Given the description of an element on the screen output the (x, y) to click on. 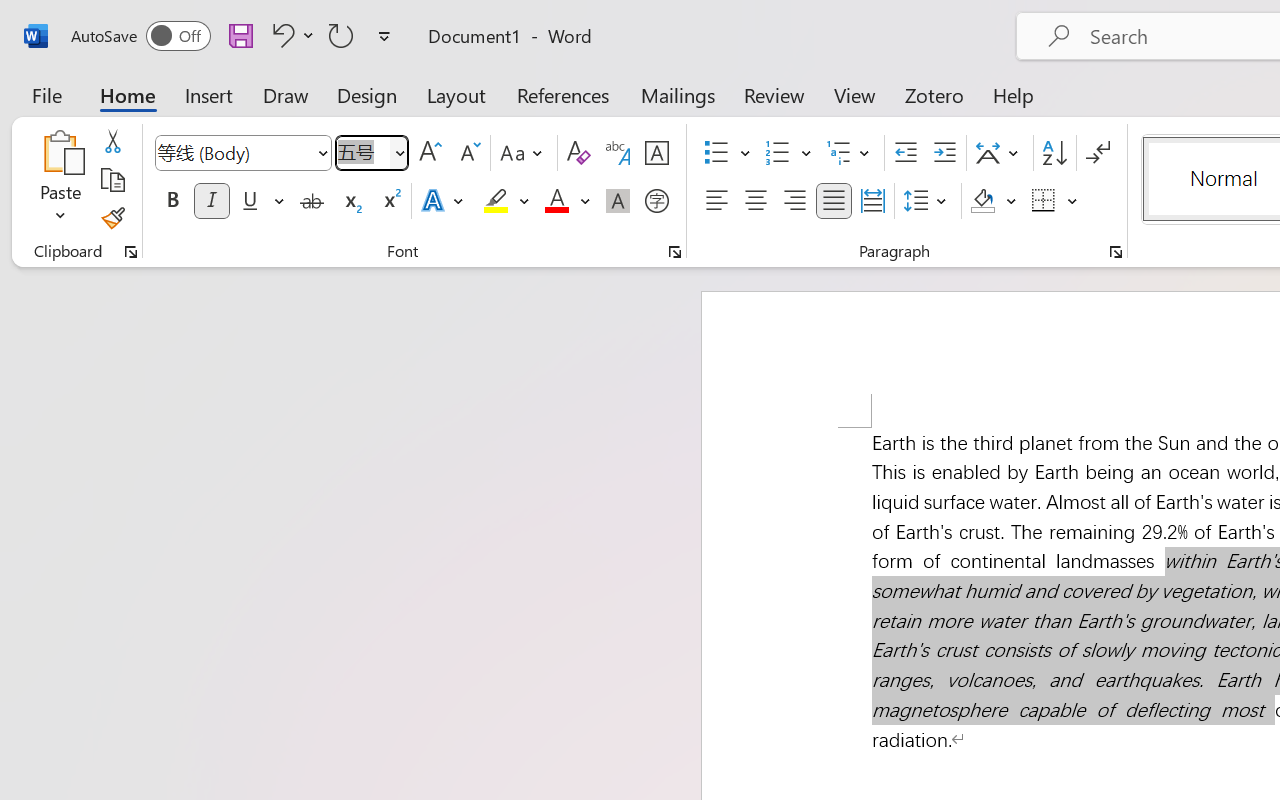
Shading RGB(0, 0, 0) (982, 201)
